Given the description of an element on the screen output the (x, y) to click on. 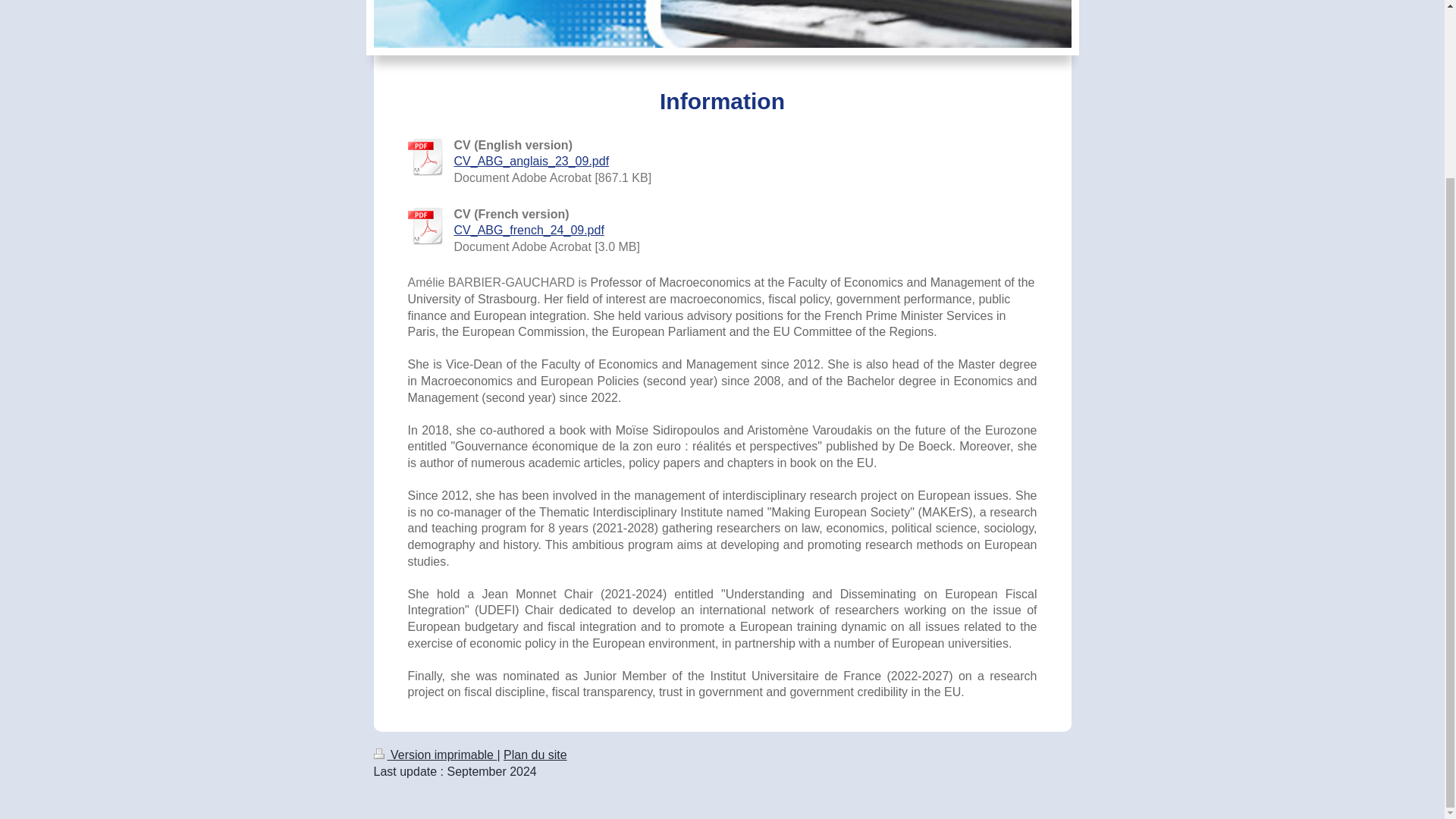
Version imprimable (434, 754)
Plan du site (535, 754)
